Given the description of an element on the screen output the (x, y) to click on. 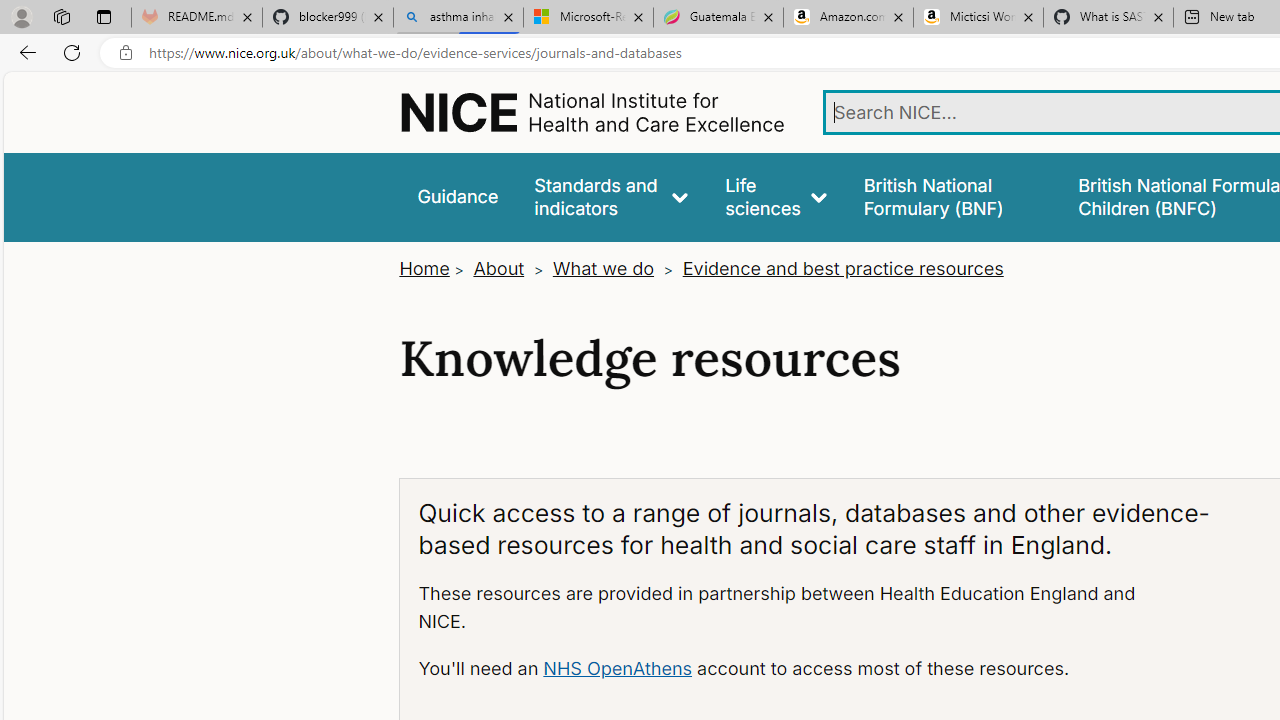
NHS OpenAthens (617, 668)
asthma inhaler - Search (458, 17)
Evidence and best practice resources (842, 268)
What we do> (614, 268)
Guidance (458, 196)
About> (510, 268)
Evidence and best practice resources (842, 268)
false (952, 196)
What we do (603, 268)
